Given the description of an element on the screen output the (x, y) to click on. 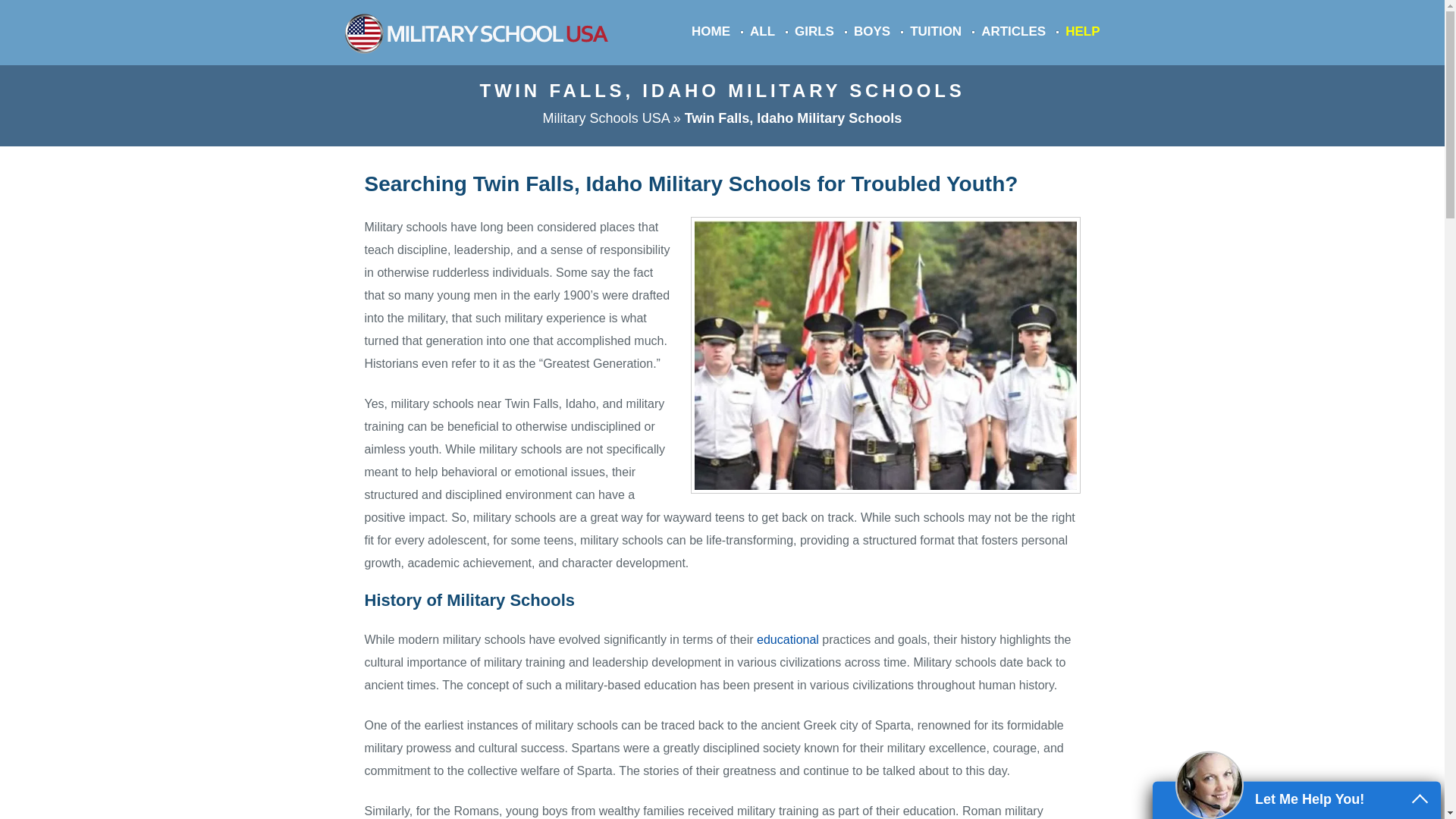
Military Schools USA (606, 118)
ALL (761, 31)
BOYS (871, 31)
HELP (1082, 31)
educational (787, 639)
ARTICLES (1013, 31)
TUITION (935, 31)
GIRLS (814, 31)
HOME (710, 31)
